Given the description of an element on the screen output the (x, y) to click on. 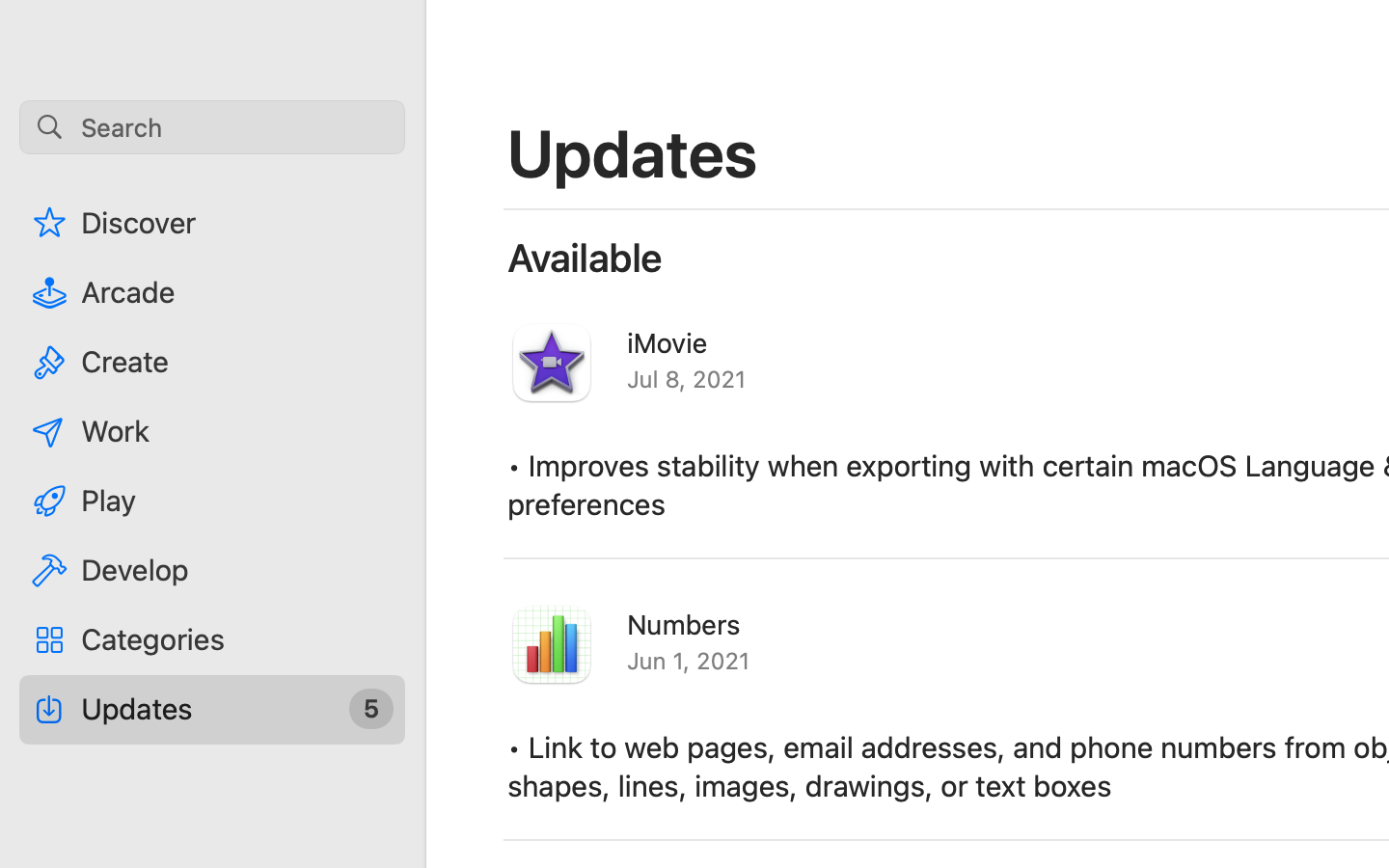
Updates Element type: AXStaticText (633, 151)
Numbers Element type: AXStaticText (683, 623)
Jul 8, 2021 Element type: AXStaticText (686, 378)
Jun 1, 2021 Element type: AXStaticText (688, 660)
iMovie Element type: AXStaticText (667, 341)
